Given the description of an element on the screen output the (x, y) to click on. 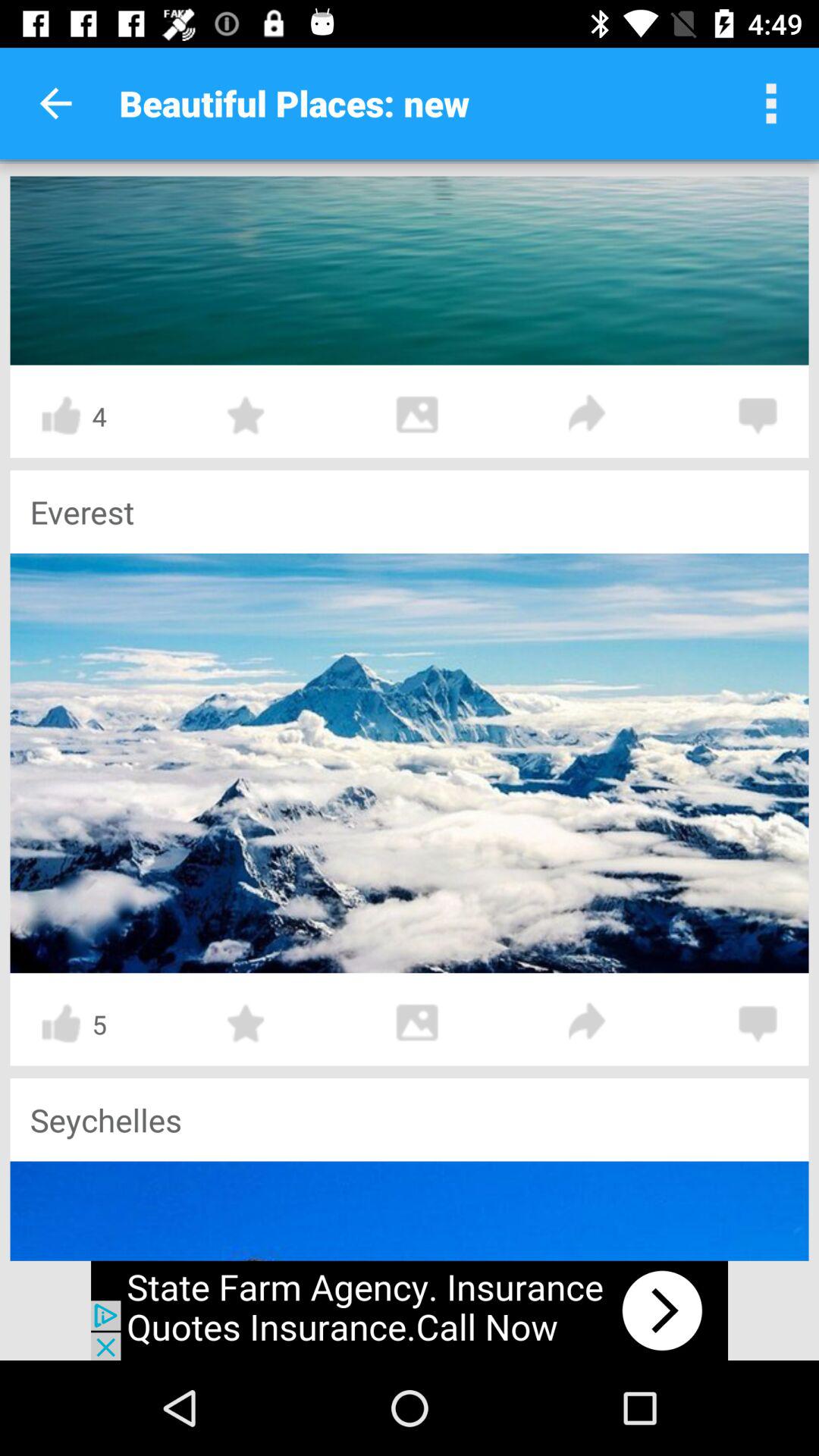
add to favorites (246, 415)
